Given the description of an element on the screen output the (x, y) to click on. 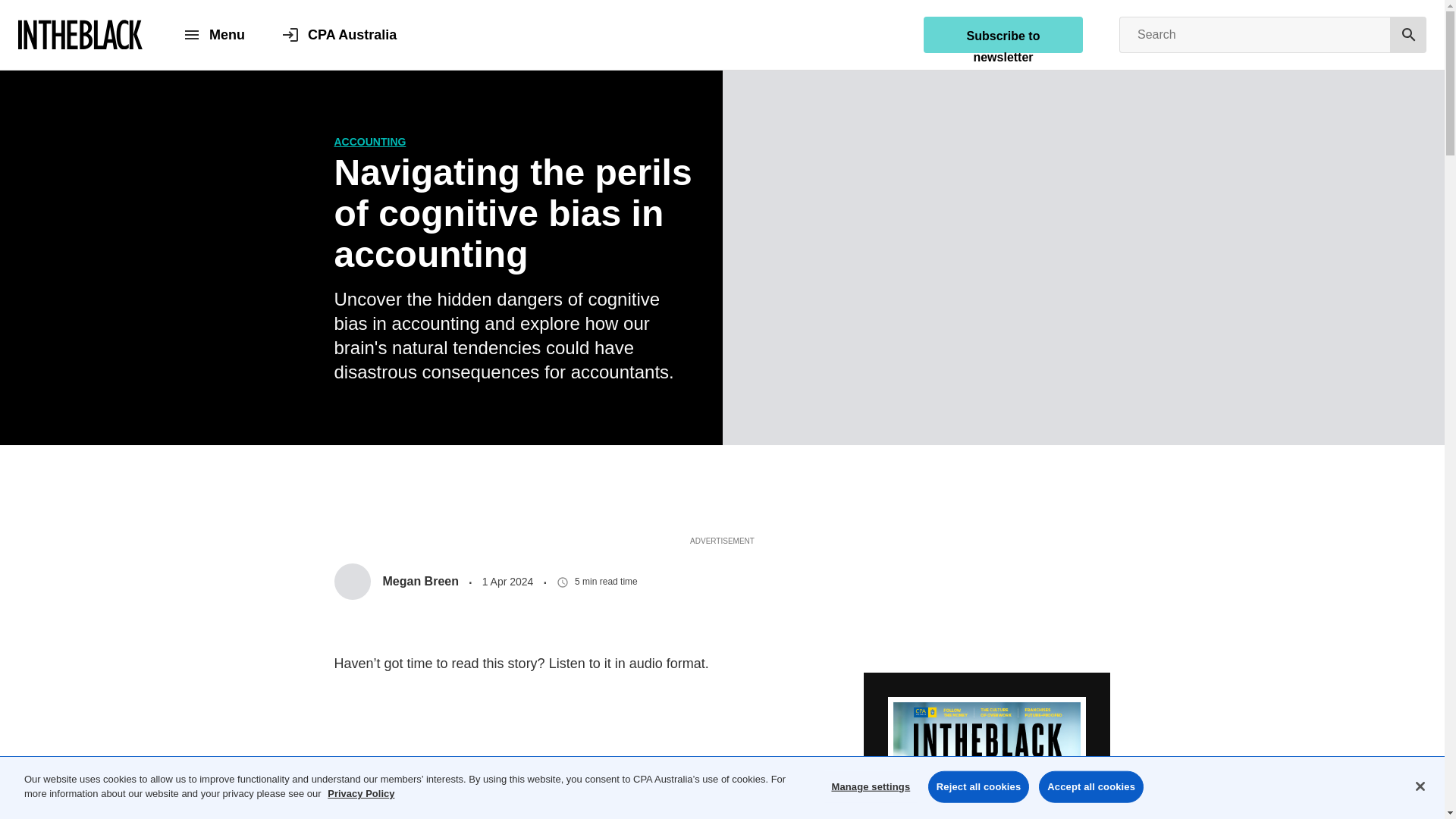
CPA Australia (339, 34)
3rd party ad content (722, 497)
Menu (213, 34)
ACCOUNTING (369, 141)
Submit search (1408, 34)
Subscribe to newsletter (1003, 34)
Megan Breen (395, 581)
